Given the description of an element on the screen output the (x, y) to click on. 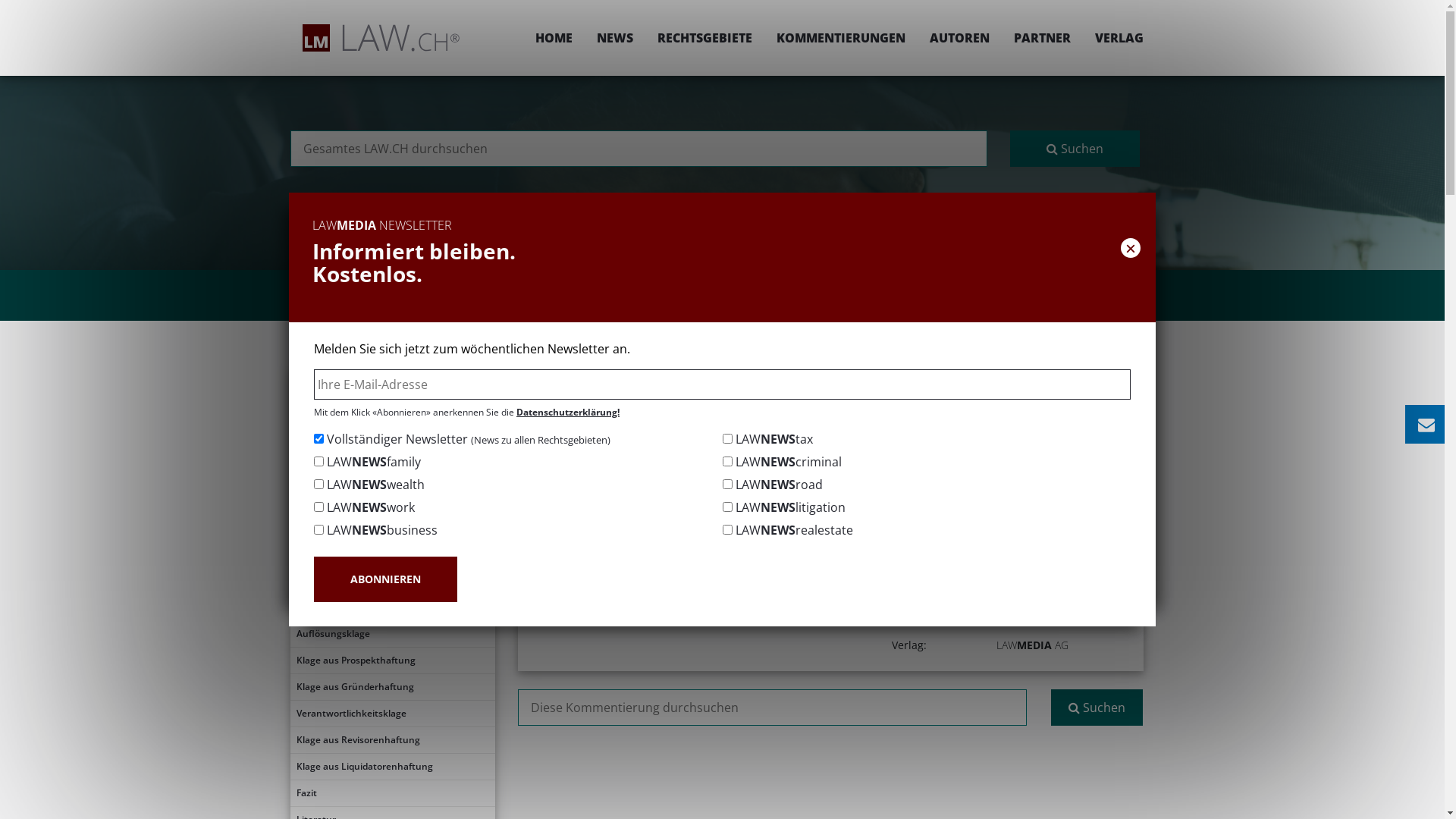
HOME Element type: text (553, 37)
Suchen nach: Element type: hover (771, 707)
VERLAG Element type: text (1112, 37)
PARTNER Element type: text (1041, 37)
Klage aus Revisorenhaftung Element type: text (391, 740)
 DRUCKEN / PDF Element type: text (1096, 426)
Anfechtungsklage Element type: text (391, 567)
Inhaltsverzeichnis Element type: text (391, 407)
Auskunfts- und Einsichtsklage Element type: text (391, 514)
 TEILEN Element type: text (991, 426)
KOMMENTIERUNGEN Element type: text (840, 37)
NEWS Element type: text (613, 37)
Gesetzliche Grundlagen Element type: text (391, 434)
Verantwortlichkeitsklage Element type: text (391, 713)
Home Element type: text (628, 375)
AUTOREN Element type: text (959, 37)
Suchen nach: Element type: hover (637, 148)
ABONNIEREN Element type: text (385, 579)
Rechtsgebiete Element type: text (697, 375)
Einleitung zu Aktienrechtlichen Klagen Element type: text (391, 381)
Klage aus Liquidatorenhaftung Element type: text (391, 766)
Klage aus Prospekthaftung Element type: text (391, 660)
RECHTSGEBIETE Element type: text (703, 37)
Skip to content Element type: text (1443, 0)
Stimmrechtsklage Element type: text (391, 487)
Fazit Element type: text (391, 793)
Abgrenzung der Klagearten Element type: text (391, 460)
